Given the description of an element on the screen output the (x, y) to click on. 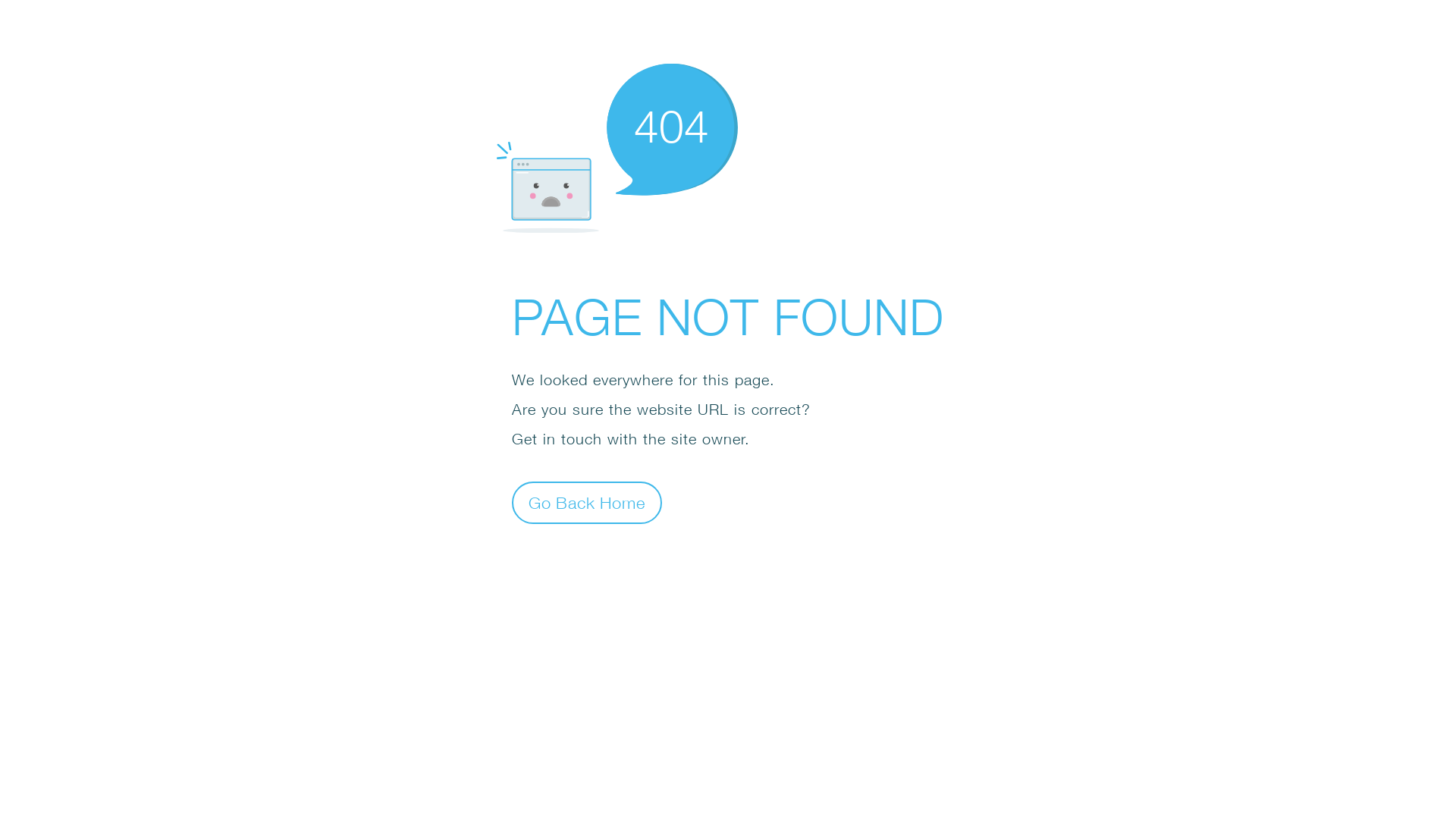
Go Back Home Element type: text (586, 502)
